Given the description of an element on the screen output the (x, y) to click on. 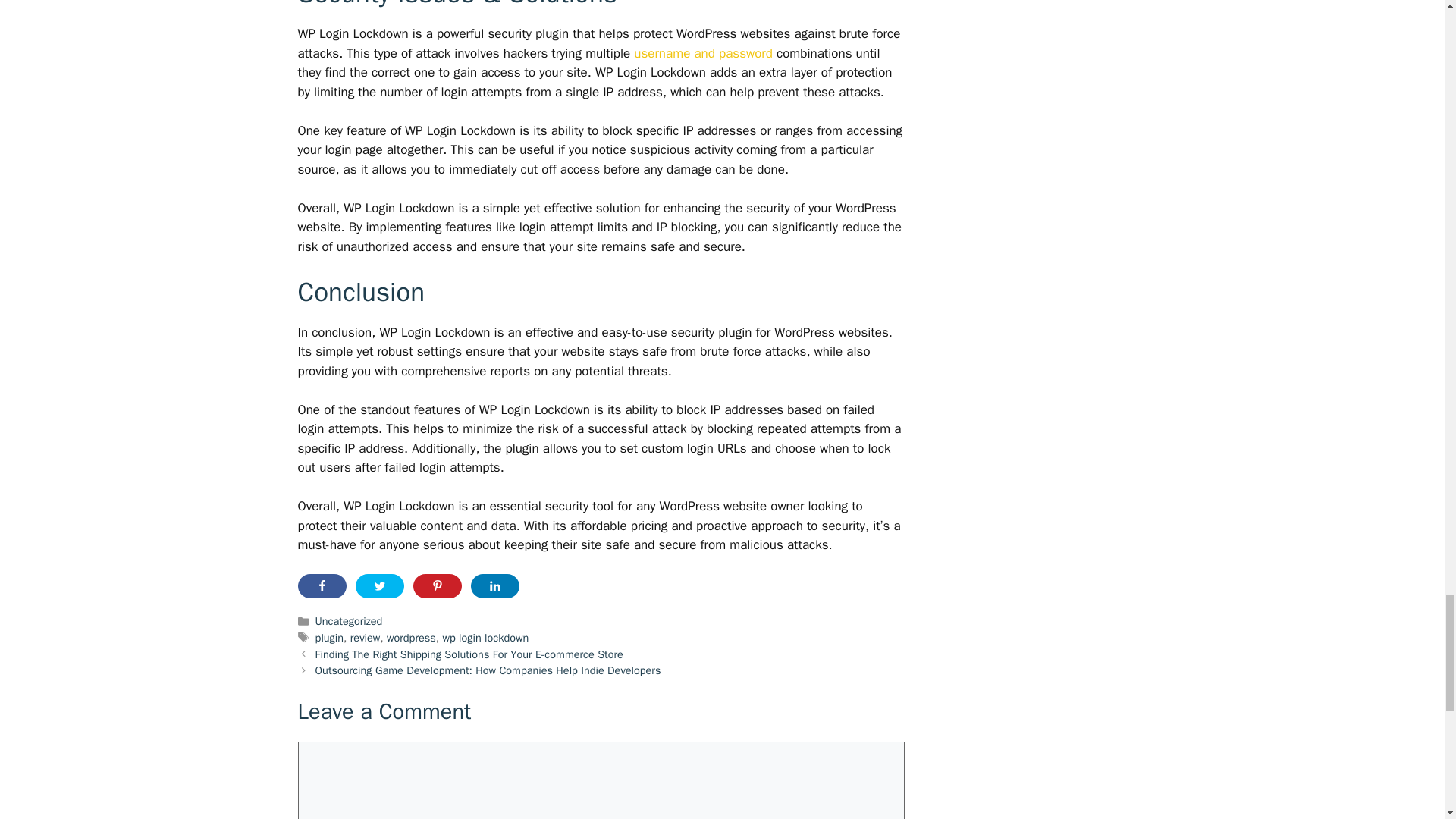
Share on Facebook (321, 586)
Share on Pinterest (436, 586)
review (365, 637)
username and password (703, 53)
Share on LinkedIn (494, 586)
Share on Twitter (379, 586)
wp login lockdown (485, 637)
Uncategorized (348, 621)
wordpress (411, 637)
